Given the description of an element on the screen output the (x, y) to click on. 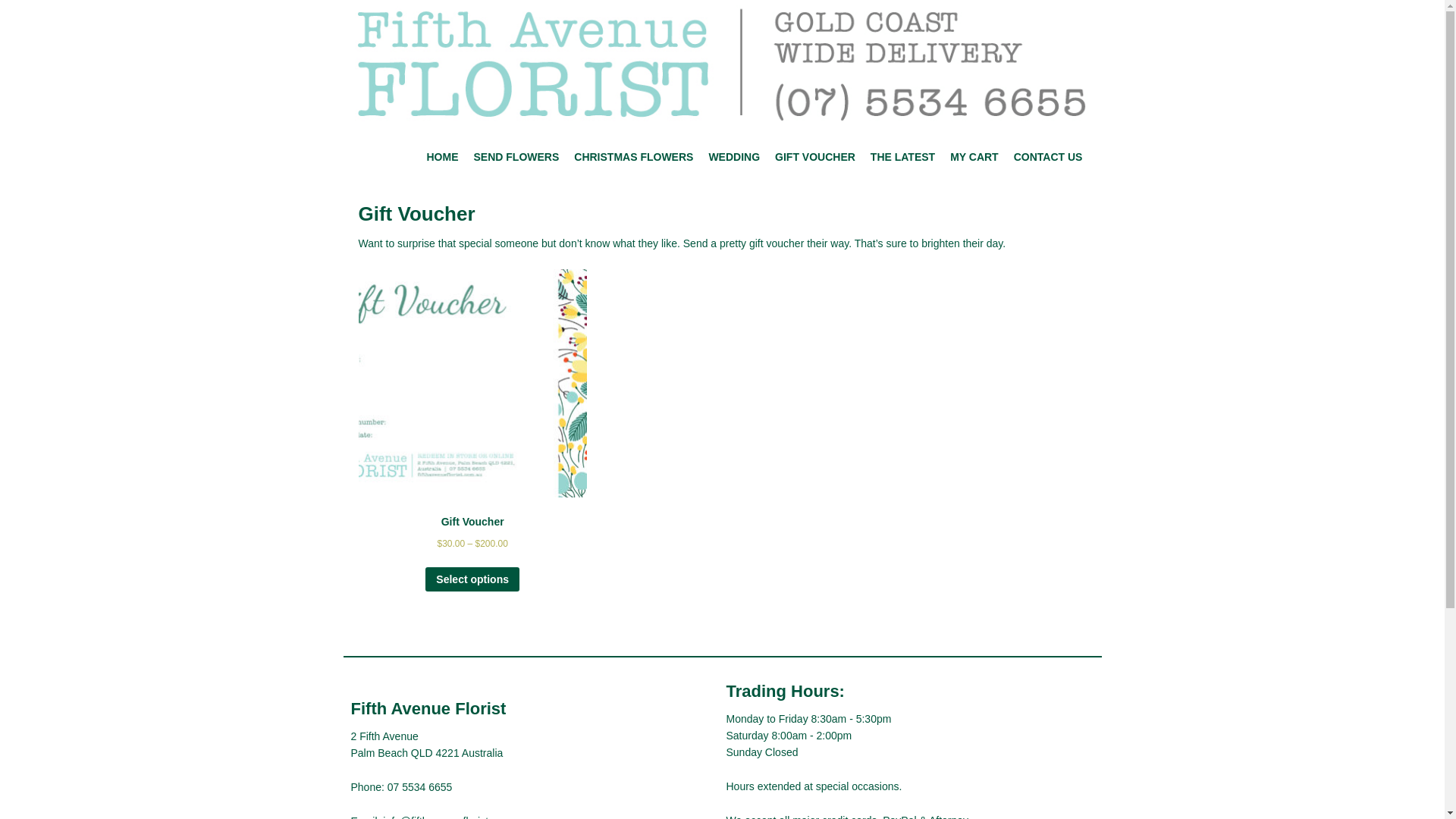
WEDDING Element type: text (733, 156)
HOME Element type: text (441, 156)
Select options Element type: text (472, 578)
THE LATEST Element type: text (902, 156)
GIFT VOUCHER Element type: text (814, 156)
MY CART Element type: text (974, 156)
CHRISTMAS FLOWERS Element type: text (633, 156)
SEND FLOWERS Element type: text (515, 156)
CONTACT US Element type: text (1048, 156)
